Given the description of an element on the screen output the (x, y) to click on. 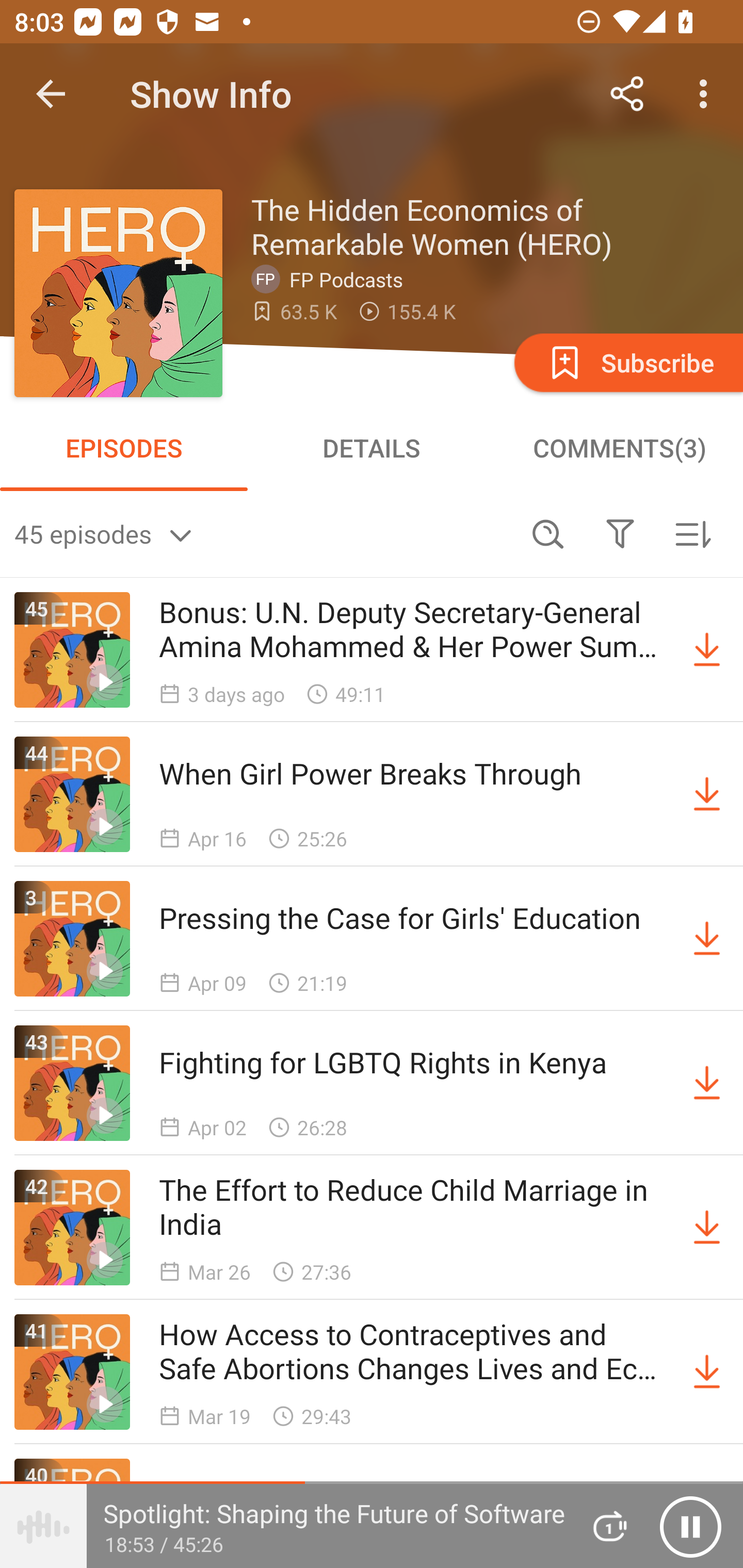
Navigate up (50, 93)
Share (626, 93)
More options (706, 93)
FP Podcasts (331, 278)
Subscribe (627, 361)
EPISODES (123, 447)
DETAILS (371, 447)
COMMENTS(3) (619, 447)
45 episodes  (262, 533)
 Search (547, 533)
 (619, 533)
 Sorted by newest first (692, 533)
Download (706, 649)
Download (706, 793)
Download (706, 939)
Download (706, 1083)
Download (706, 1227)
Download (706, 1371)
Pause (690, 1526)
